Given the description of an element on the screen output the (x, y) to click on. 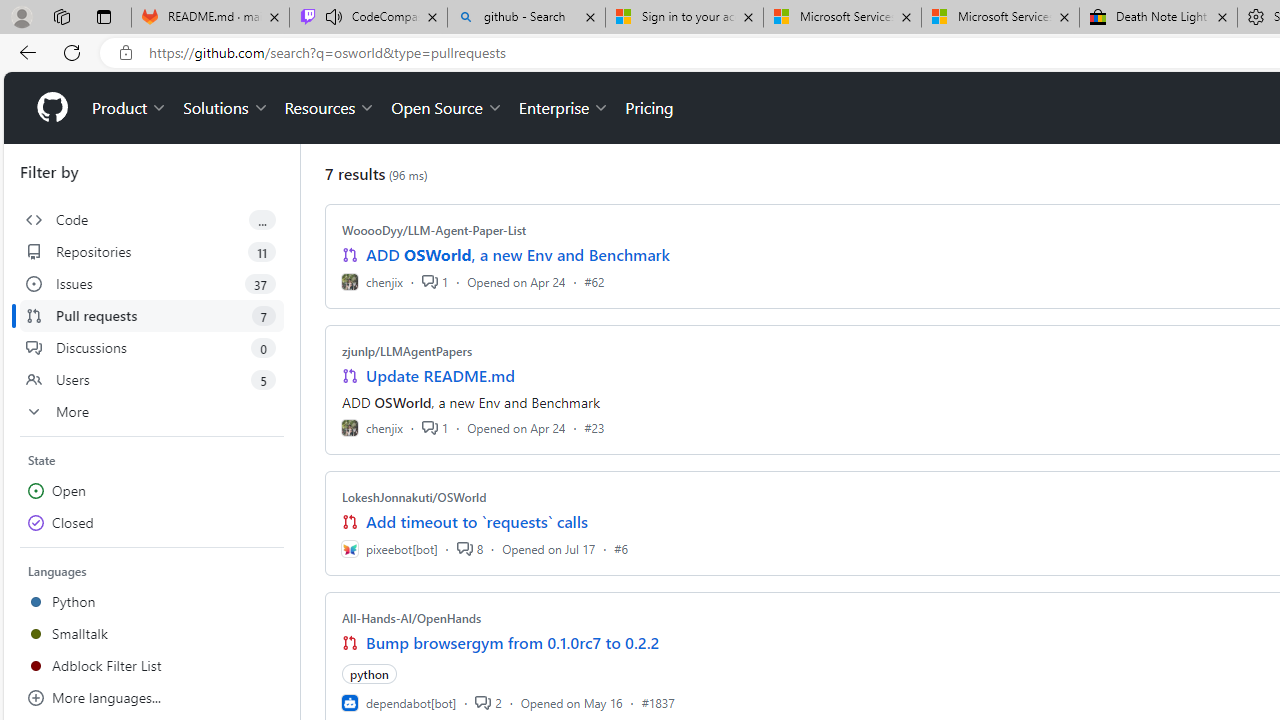
LokeshJonnakuti/OSWorld (413, 497)
Solutions (225, 107)
More languages... (152, 697)
Solutions (225, 107)
#6 (621, 548)
Homepage (51, 107)
github - Search (526, 17)
